Given the description of an element on the screen output the (x, y) to click on. 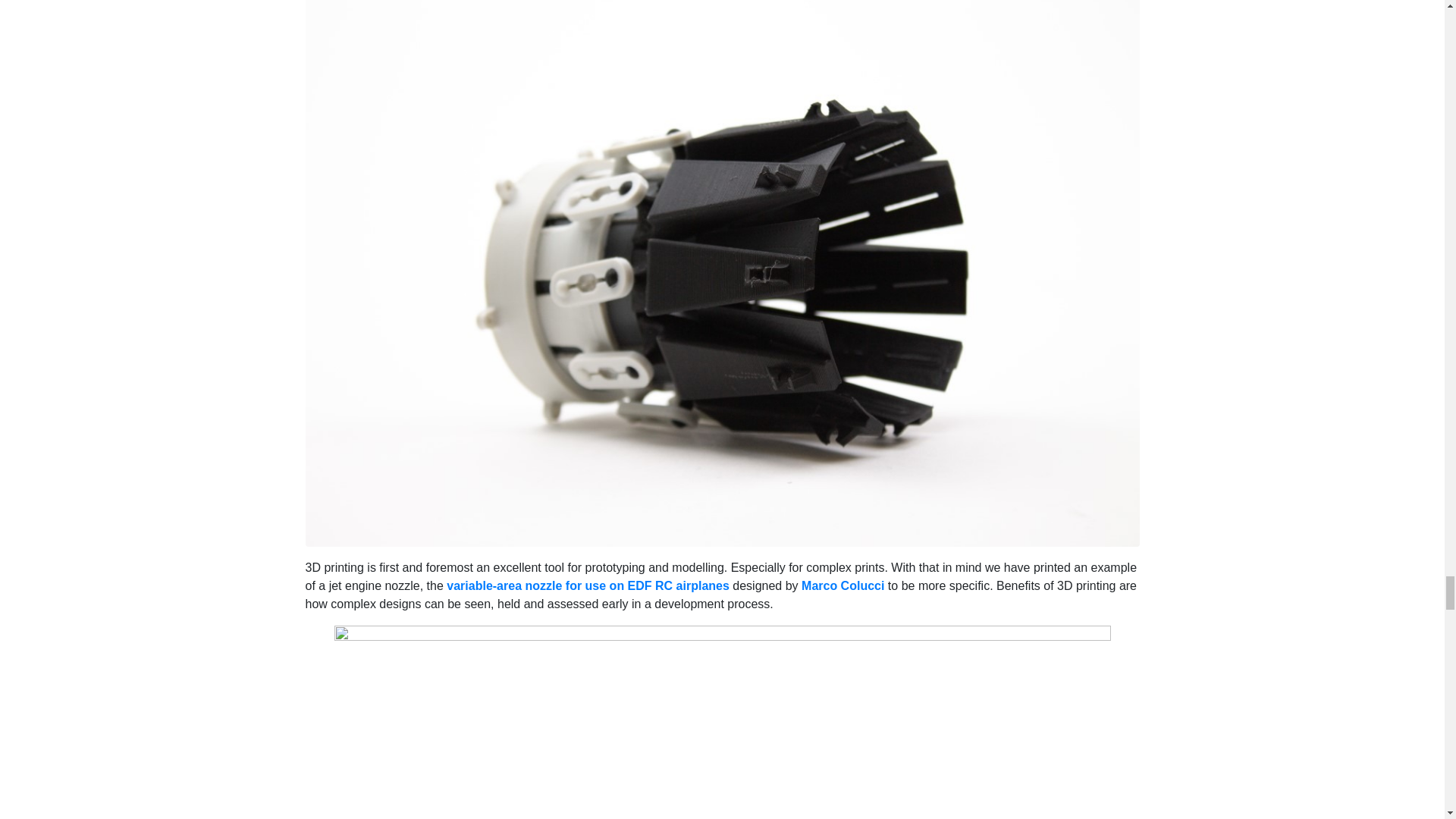
Jet engine nozzle (721, 267)
